Given the description of an element on the screen output the (x, y) to click on. 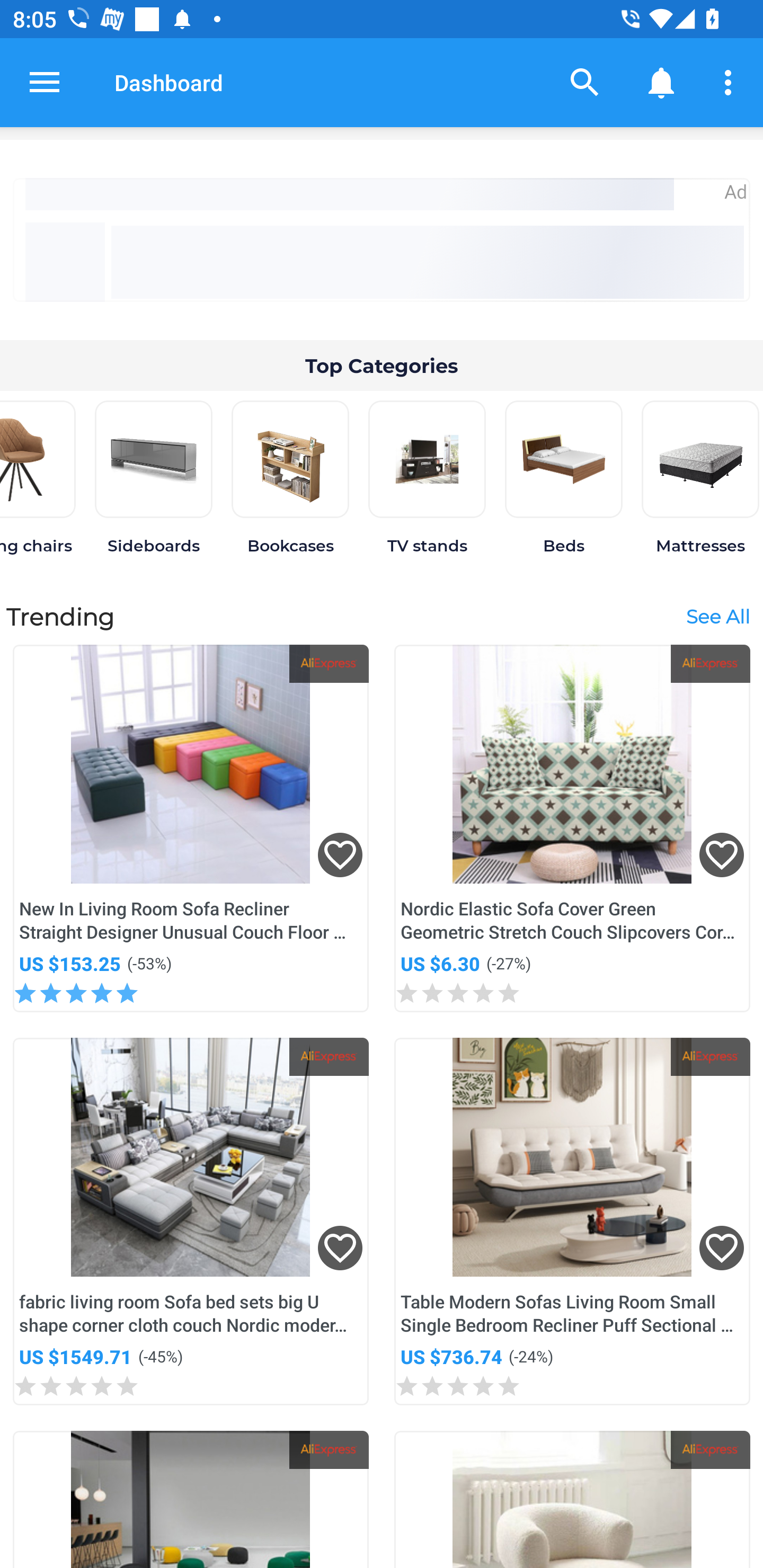
Open navigation drawer (44, 82)
Search (585, 81)
More options (731, 81)
See All (717, 615)
